Given the description of an element on the screen output the (x, y) to click on. 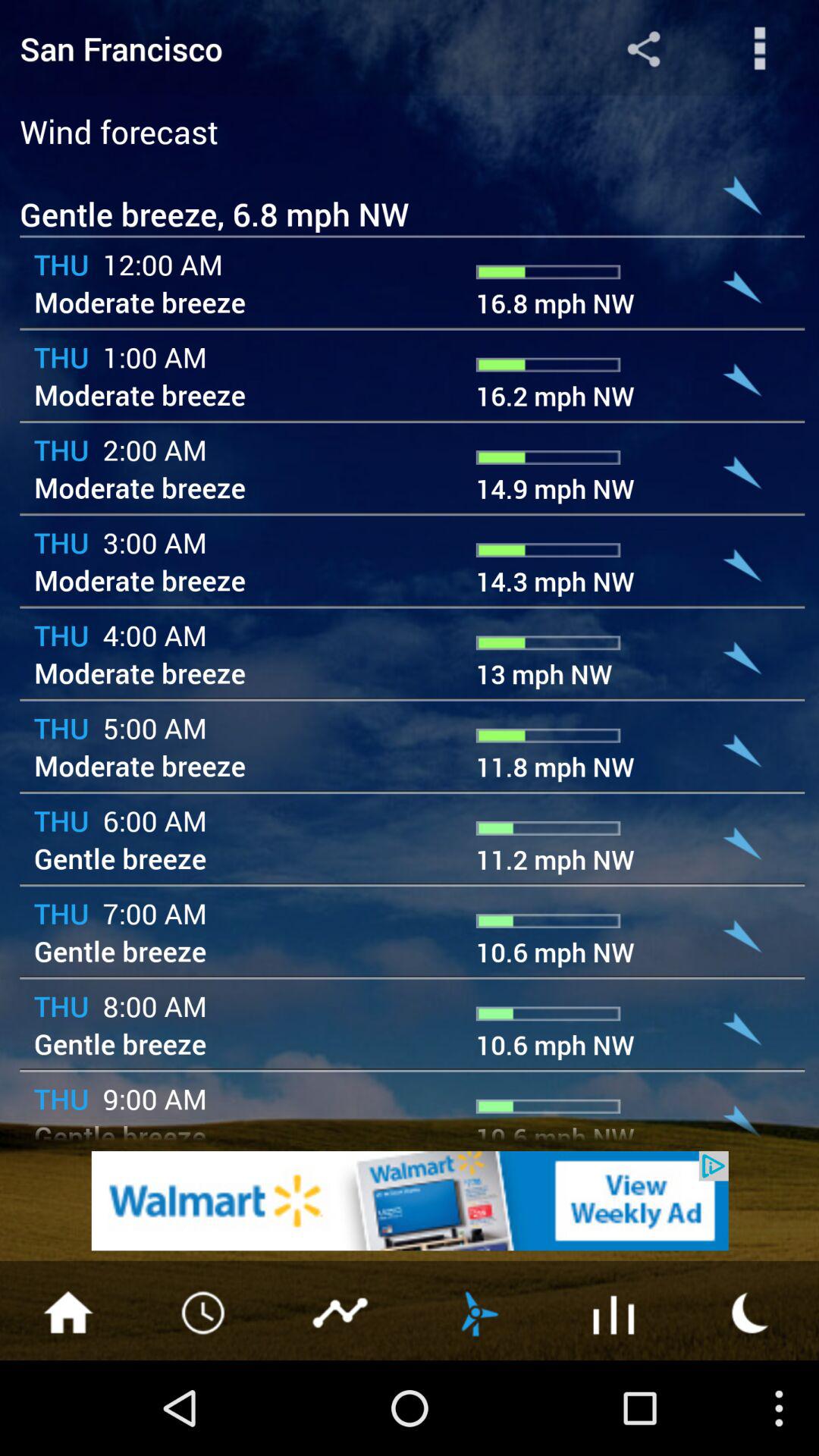
more options (759, 48)
